Given the description of an element on the screen output the (x, y) to click on. 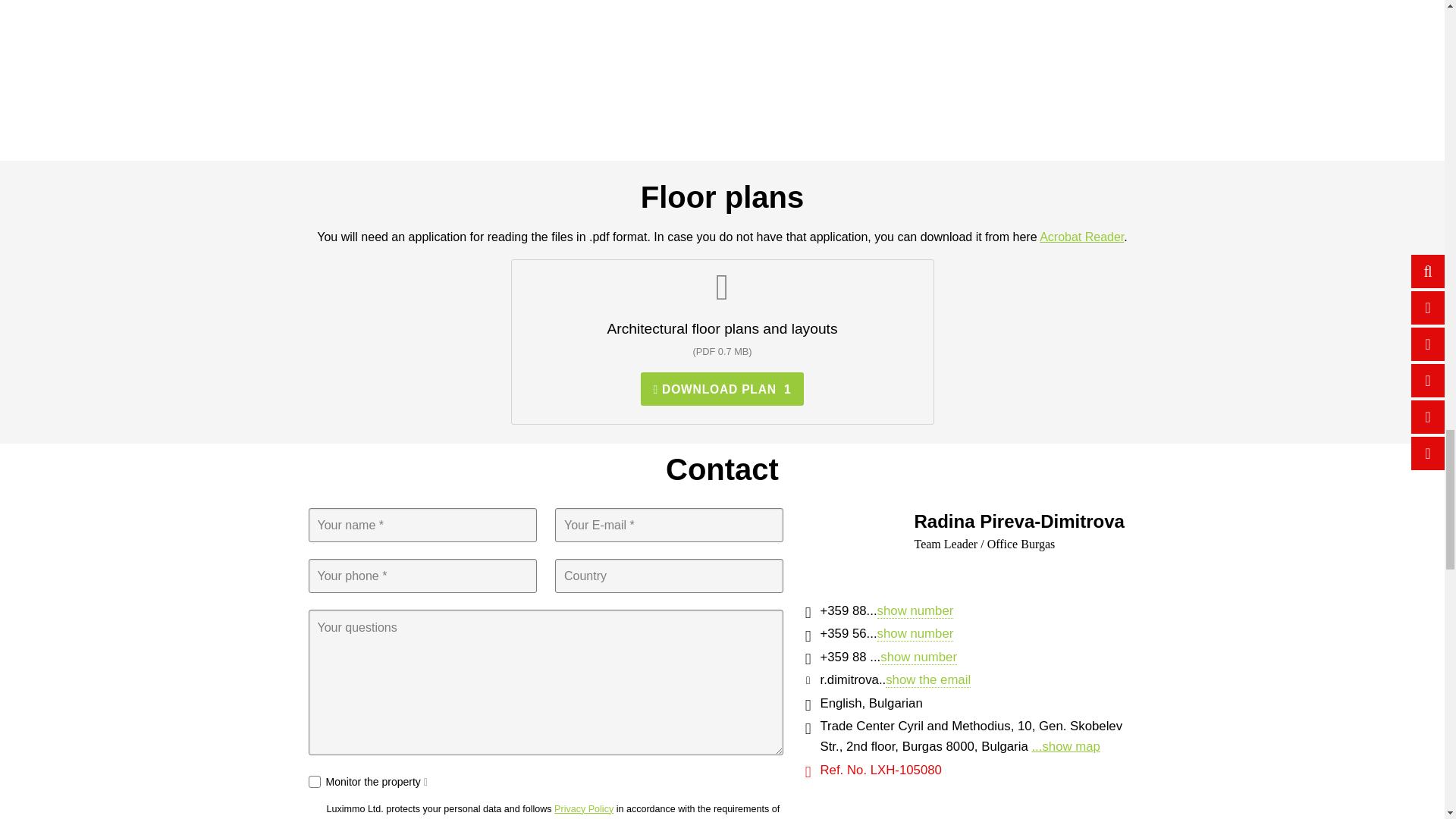
Mobile phone (807, 612)
Landline (807, 636)
